Given the description of an element on the screen output the (x, y) to click on. 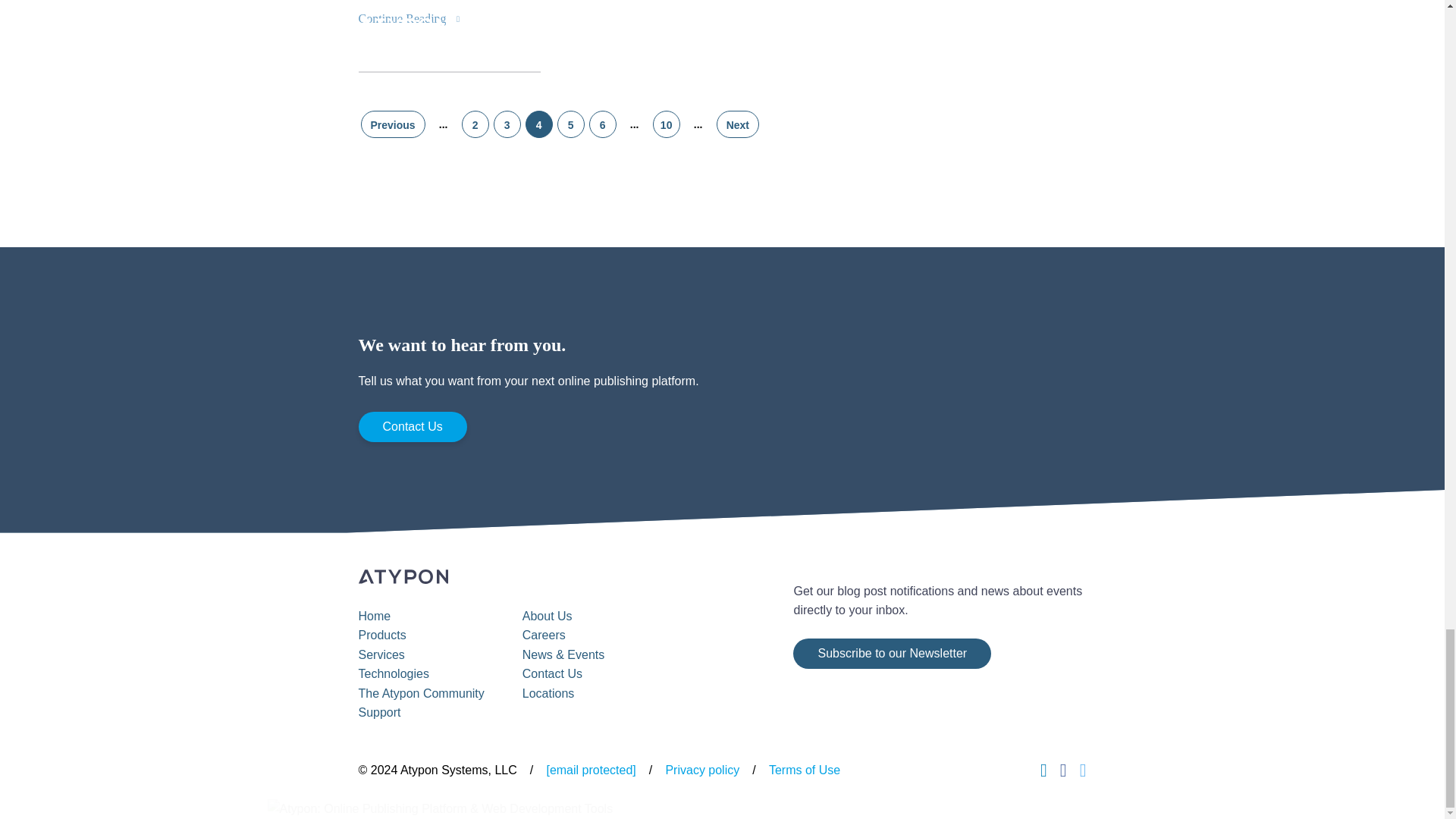
Page 2 (475, 124)
Page 5 (571, 124)
Page 6 (602, 124)
Page 3 (507, 124)
Page 10 (665, 124)
